Given the description of an element on the screen output the (x, y) to click on. 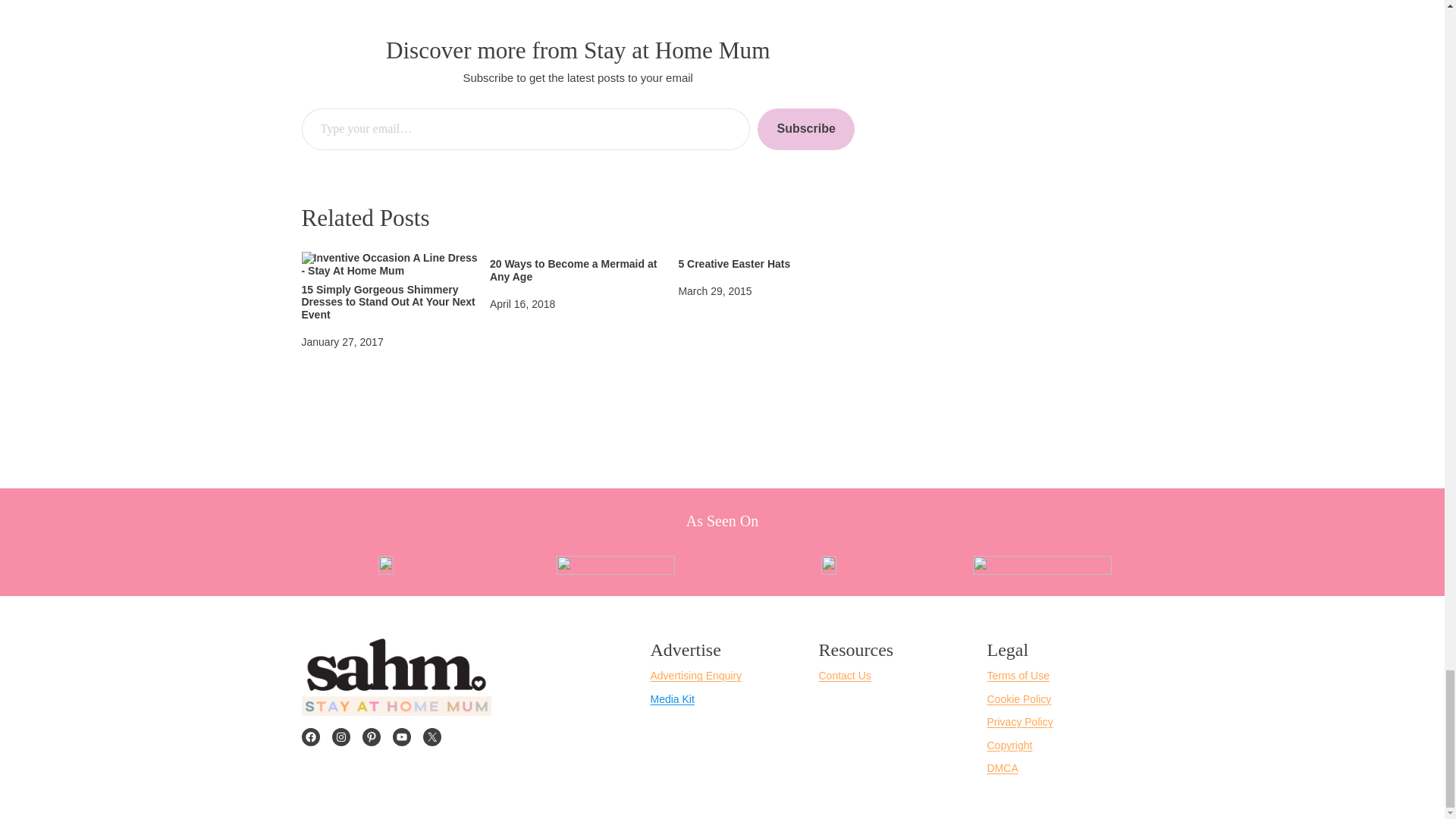
Please fill in this field. (526, 128)
